Given the description of an element on the screen output the (x, y) to click on. 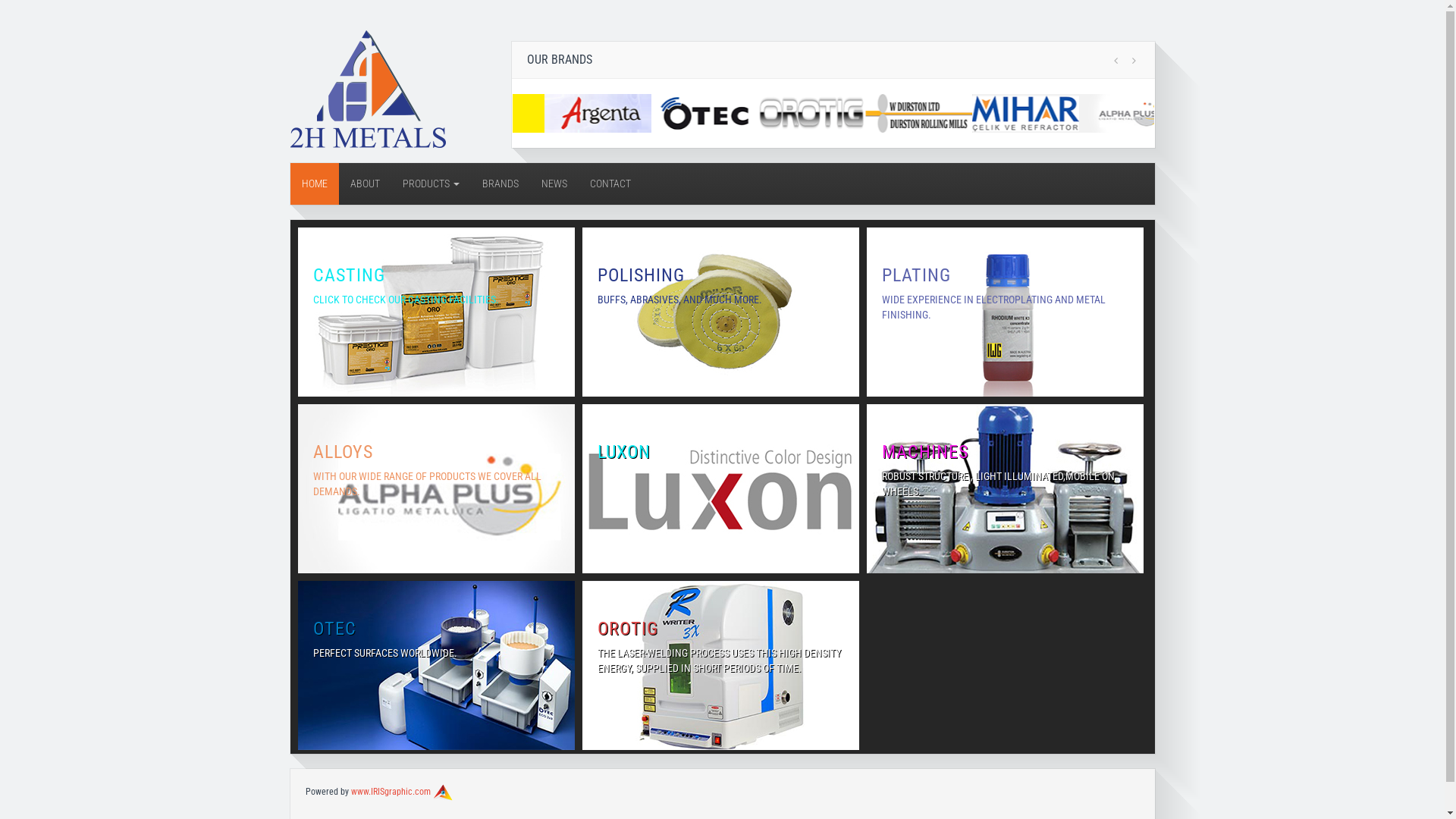
ABOUT Element type: text (364, 183)
BRANDS Element type: text (499, 183)
HOME Element type: text (313, 183)
www.IRISgraphic.com Element type: text (389, 791)
2H Metals Element type: hover (367, 87)
NEWS Element type: text (553, 183)
PRODUCTS Element type: text (430, 183)
CONTACT Element type: text (609, 183)
